Given the description of an element on the screen output the (x, y) to click on. 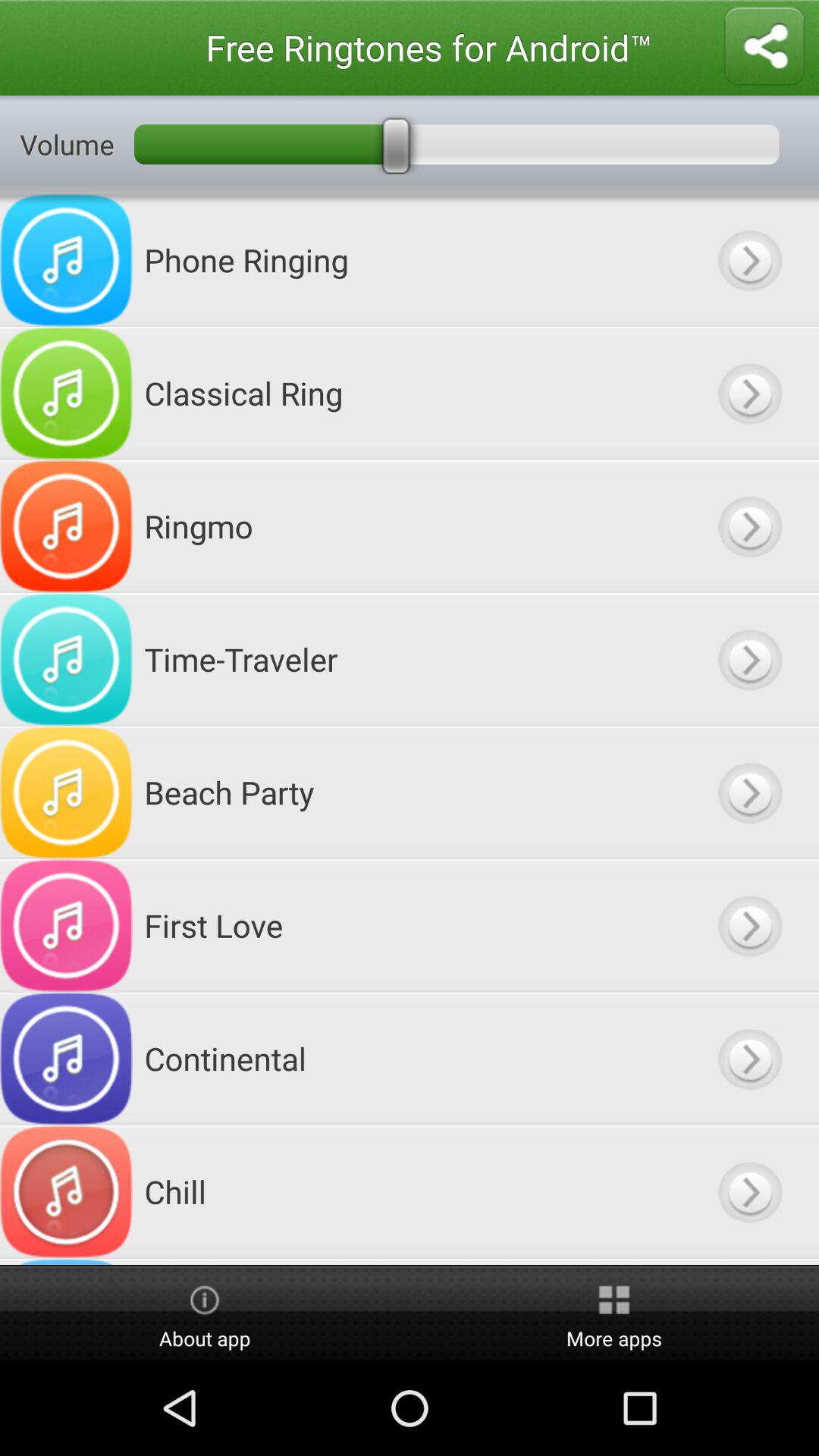
open additional settings/options (749, 259)
